Given the description of an element on the screen output the (x, y) to click on. 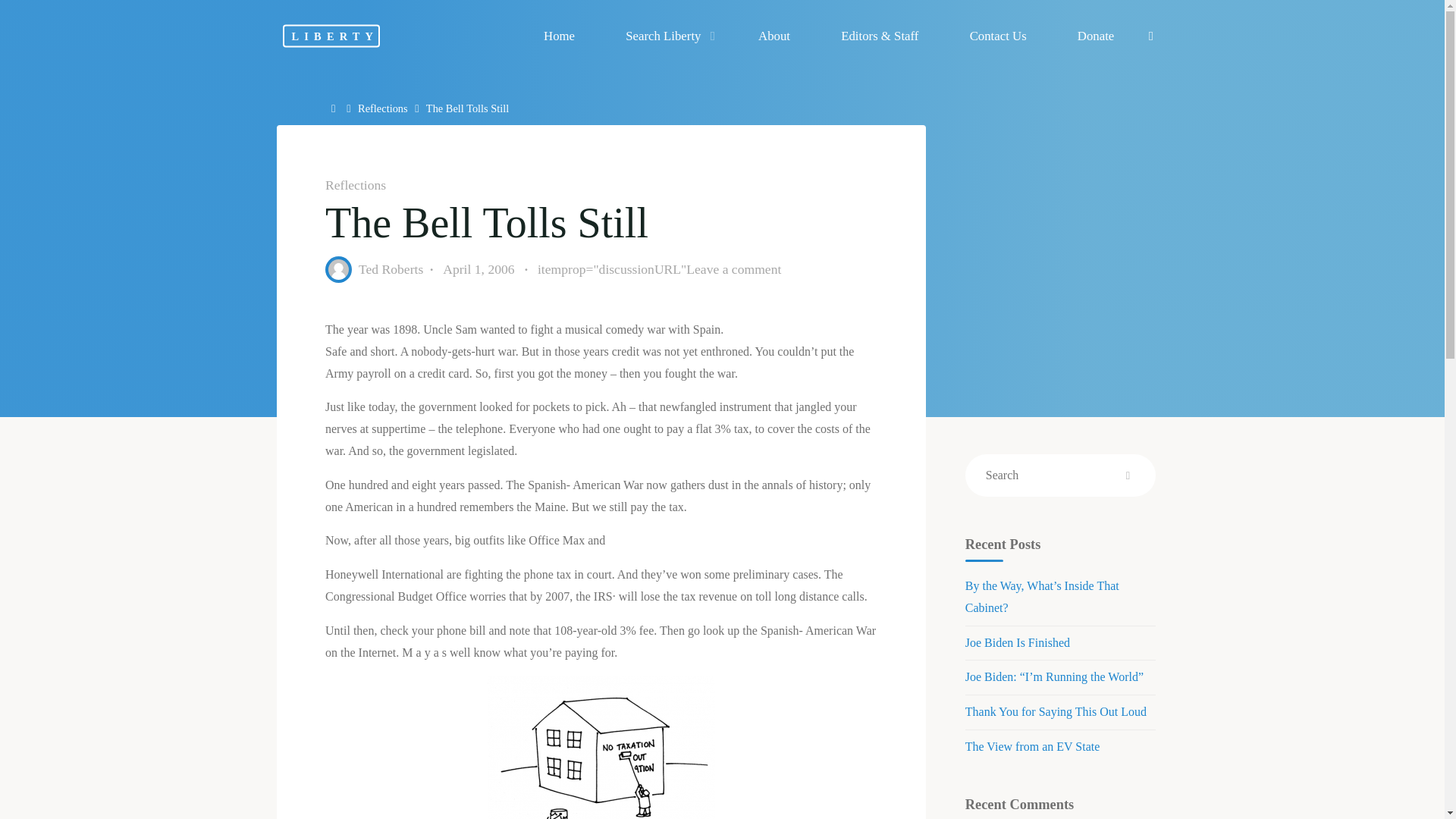
Search (1150, 35)
Home (334, 108)
View all posts by Ted Roberts (390, 268)
Leave a comment (732, 268)
Page 10 (600, 719)
About (773, 35)
Ted Roberts (390, 268)
Contact Us (997, 35)
Home (334, 108)
Reflections (354, 184)
Reflections (382, 108)
Search Liberty (666, 35)
LIBERTY (331, 35)
